Given the description of an element on the screen output the (x, y) to click on. 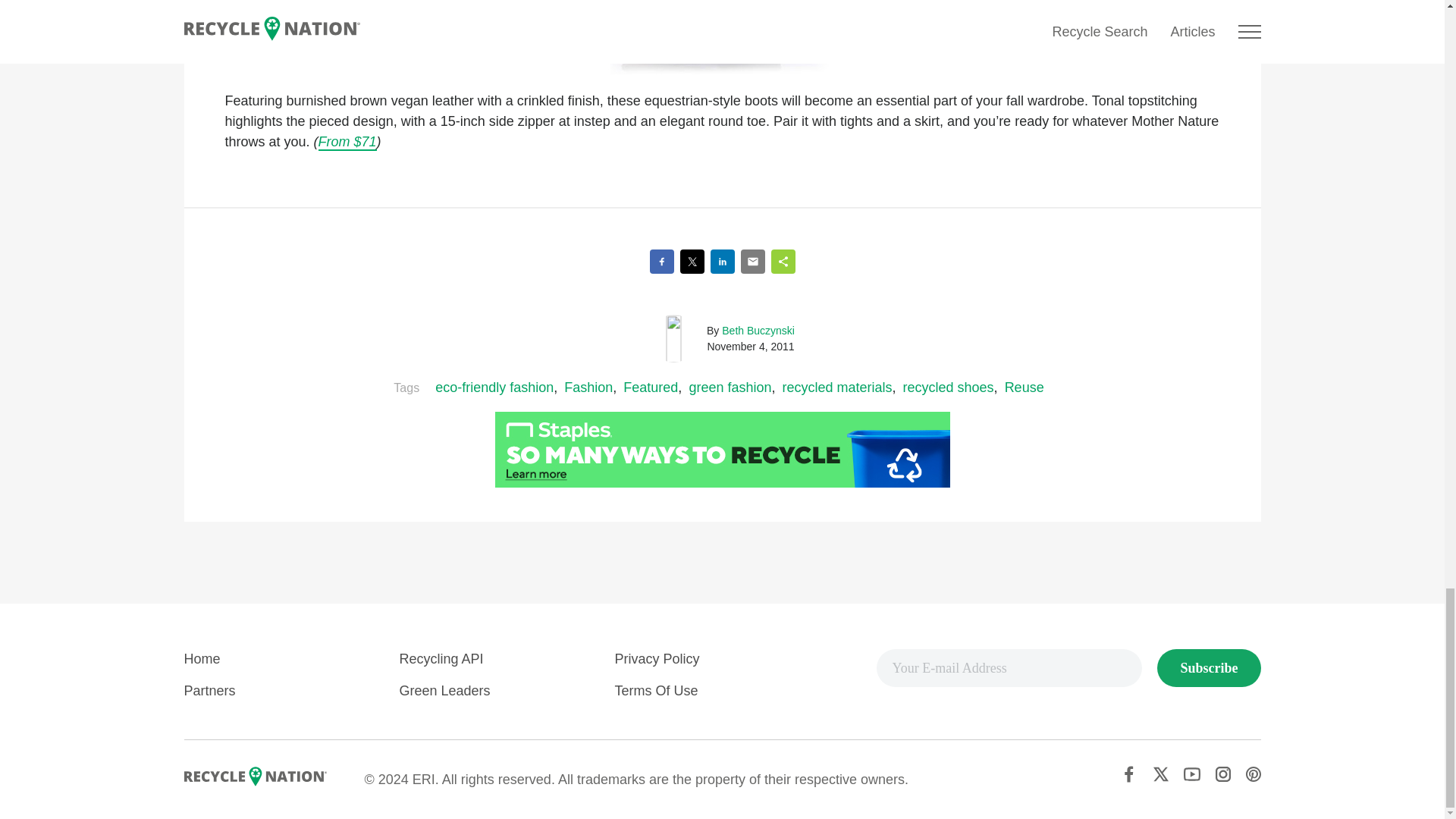
Beth Buczynski (758, 330)
gomax-concorde-riding-boots (722, 37)
recycled shoes (948, 387)
Home (201, 658)
Recycling API (440, 658)
Partners (208, 690)
recycled materials (836, 387)
Subscribe (1208, 668)
green fashion (729, 387)
Posts by Beth Buczynski (758, 330)
Fashion (588, 387)
Reuse (1023, 387)
eco-friendly fashion (494, 387)
Featured (650, 387)
